Given the description of an element on the screen output the (x, y) to click on. 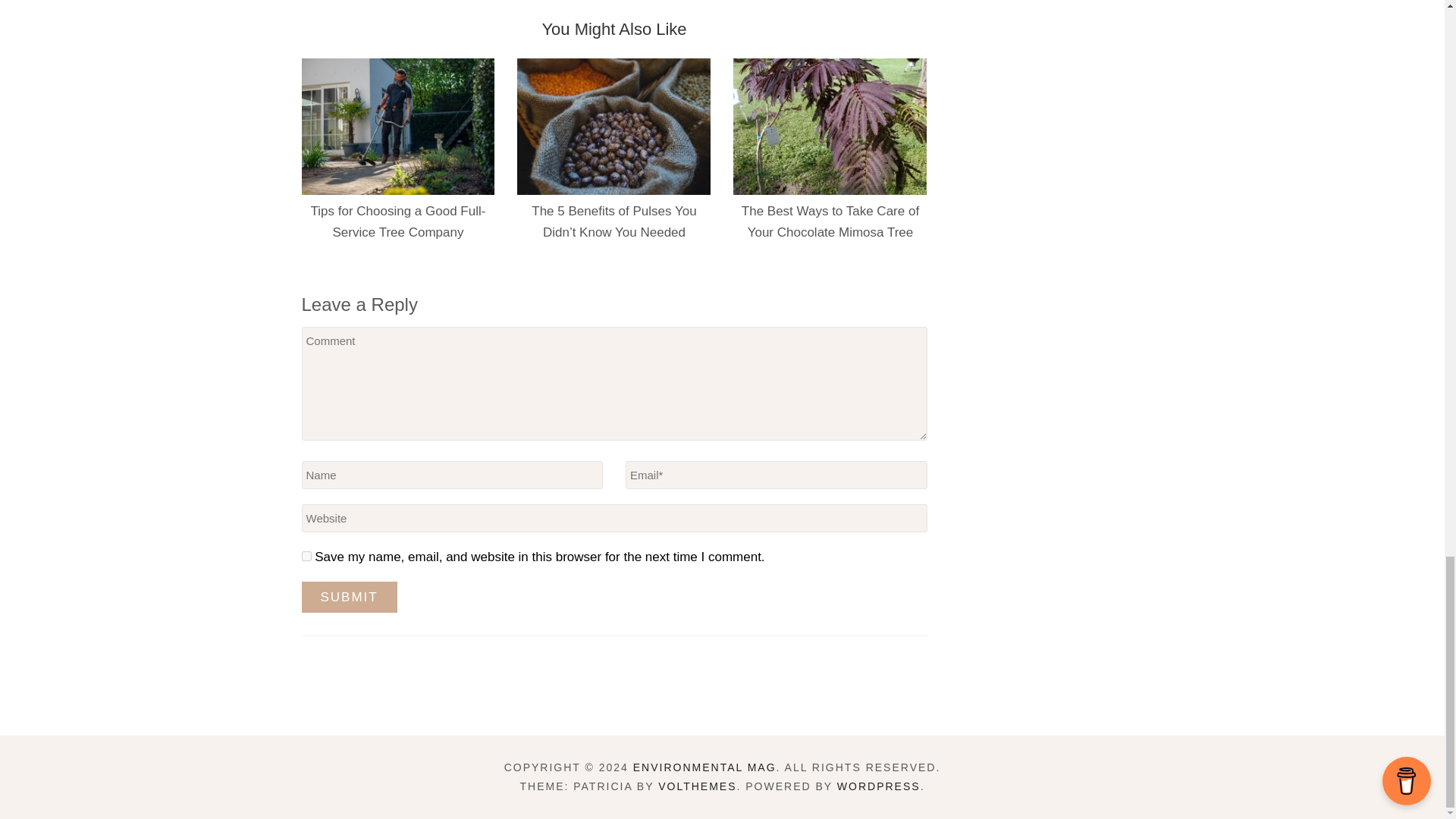
yes (306, 556)
The Best Ways to Take Care of Your Chocolate Mimosa Tree (829, 221)
VolThemes (697, 786)
ENVIRONMENTAL MAG (704, 767)
VOLTHEMES (697, 786)
Tips for Choosing a Good Full-Service Tree Company (398, 221)
Submit (349, 596)
WordPress (878, 786)
Submit (349, 596)
WORDPRESS (878, 786)
Environmental Mag (704, 767)
